Given the description of an element on the screen output the (x, y) to click on. 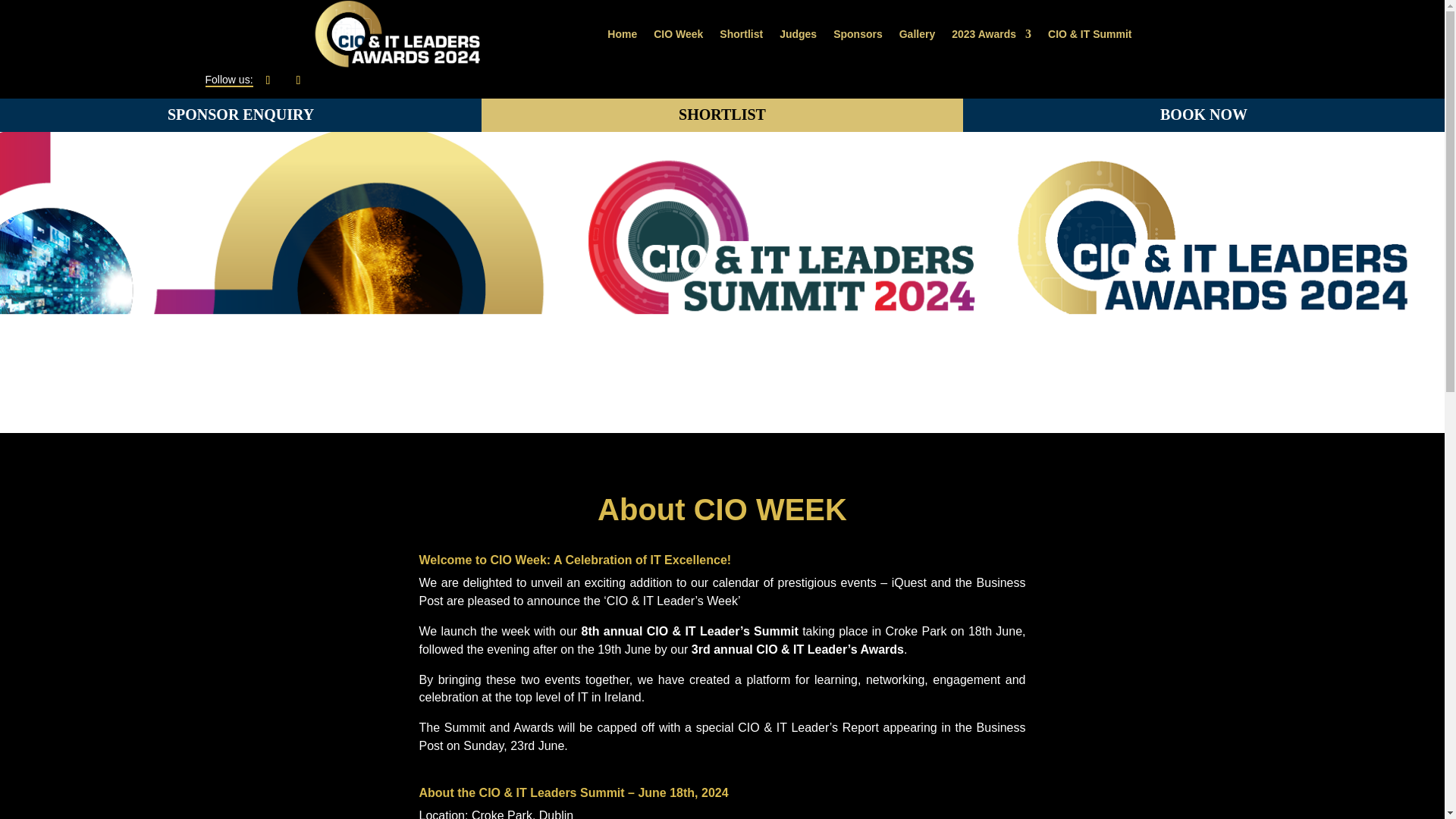
SHORTLIST (721, 114)
2023 Awards (991, 33)
Follow on X (267, 79)
SPONSOR ENQUIRY (240, 114)
Follow on LinkedIn (297, 79)
